Given the description of an element on the screen output the (x, y) to click on. 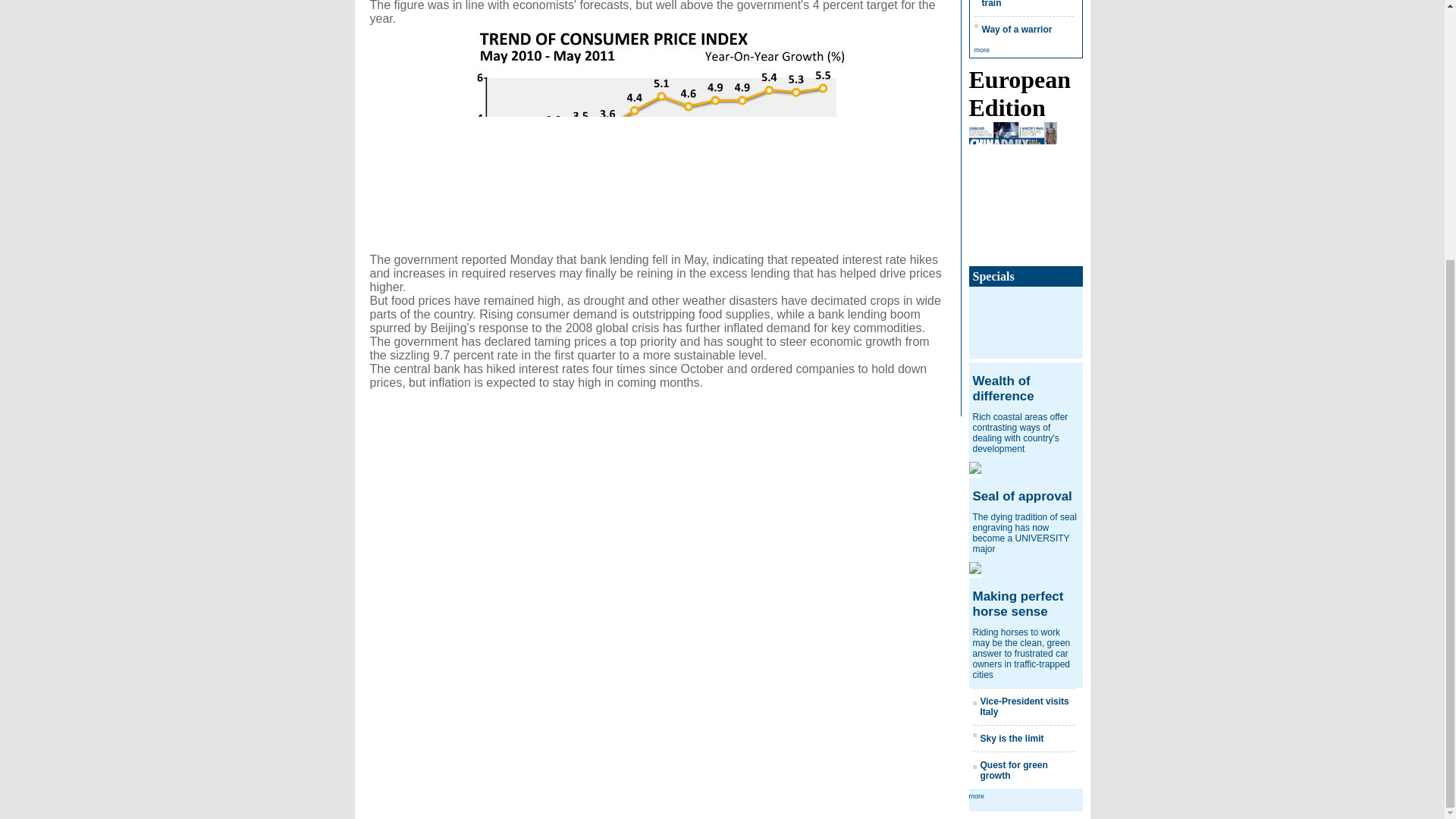
Seal of approval (1021, 495)
more (982, 49)
Riding on a mystery train (1024, 4)
Vice-President visits Italy (1023, 706)
Sky is the limit (1011, 738)
Quest for green growth (1012, 770)
Making perfect horse sense (1017, 603)
more (977, 796)
Wealth of difference (1002, 388)
Way of a warrior (1016, 29)
